Given the description of an element on the screen output the (x, y) to click on. 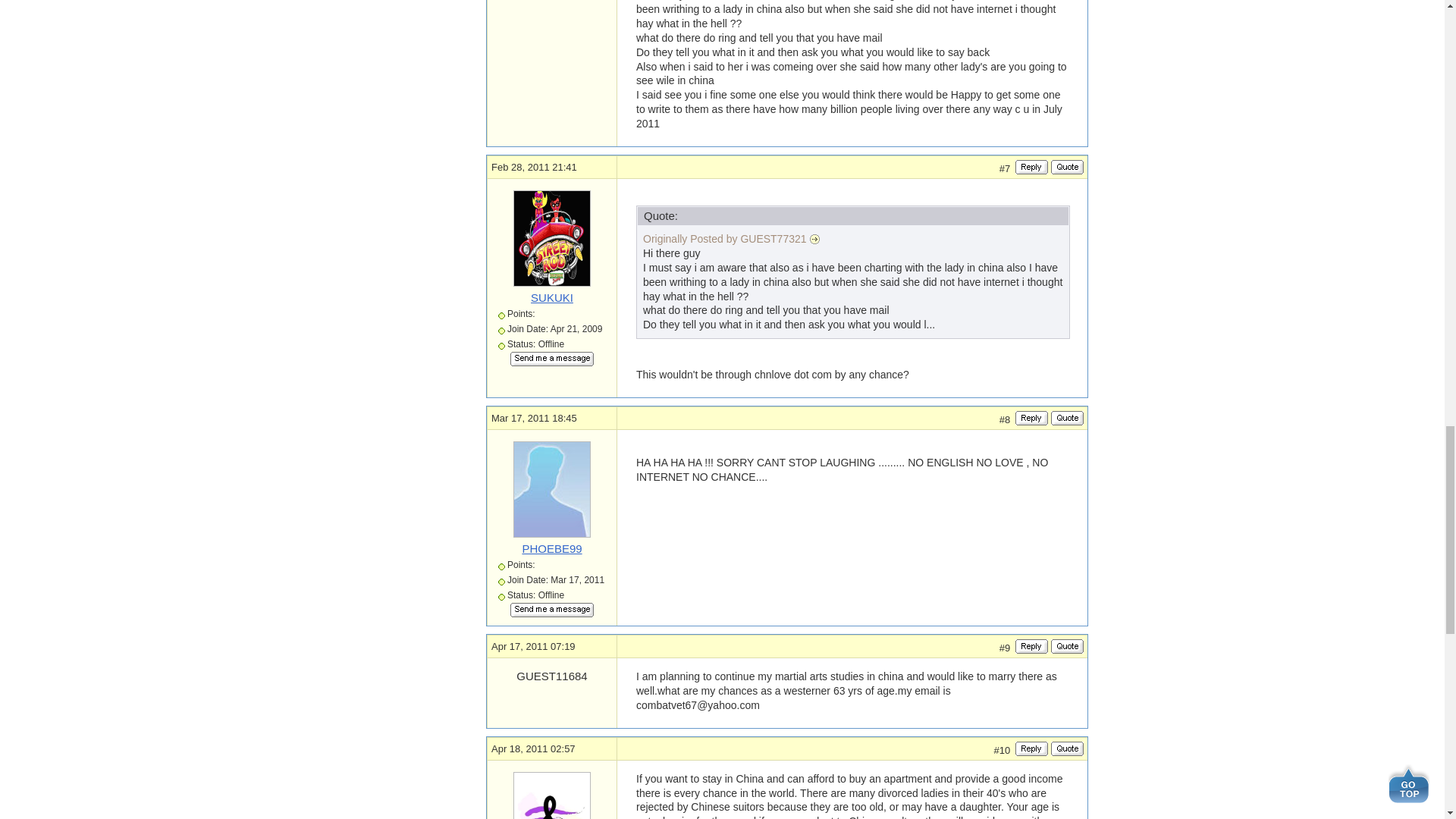
View Post (815, 239)
